Given the description of an element on the screen output the (x, y) to click on. 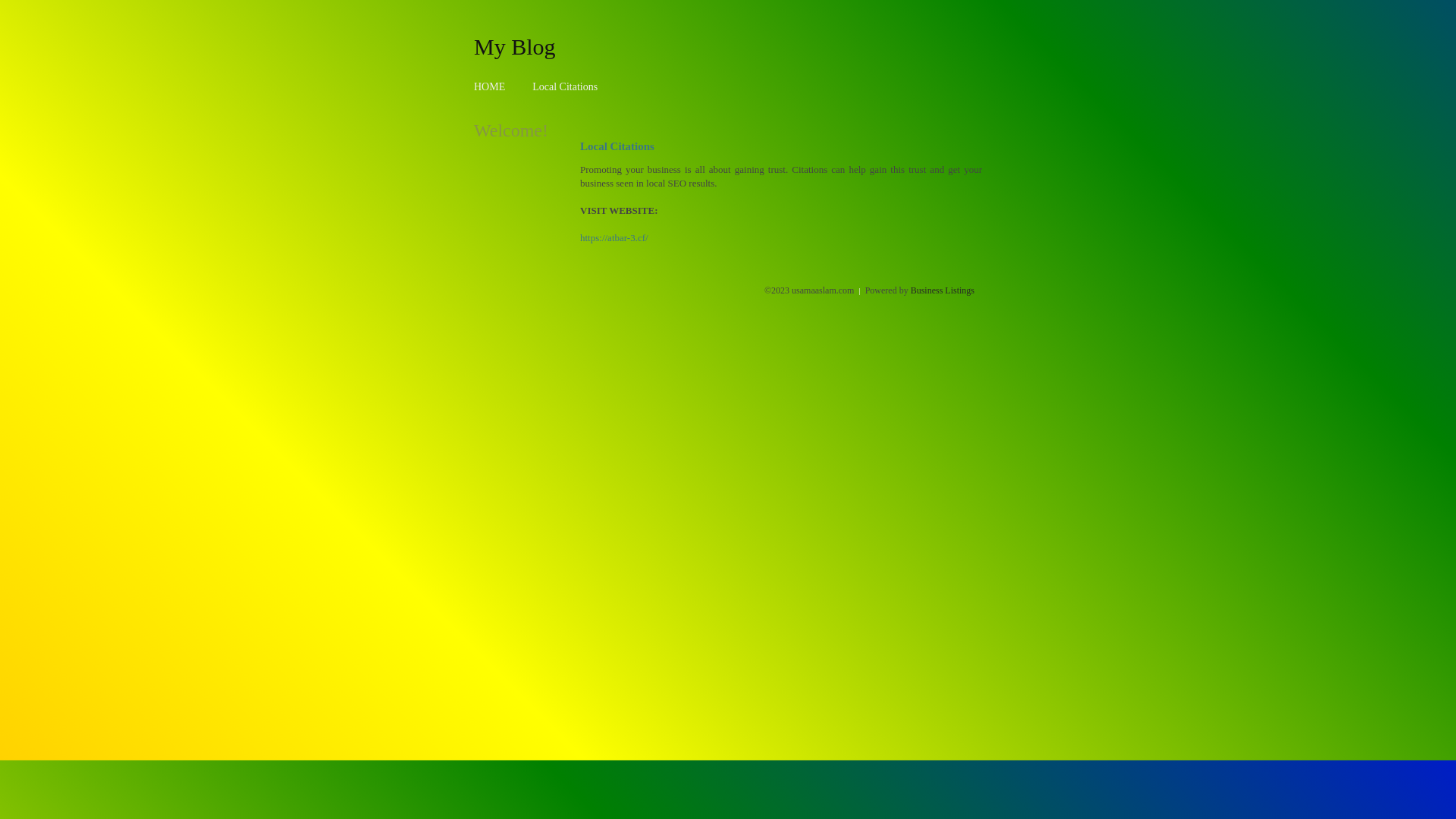
Business Listings Element type: text (942, 290)
https://atbar-3.cf/ Element type: text (614, 237)
Local Citations Element type: text (564, 86)
HOME Element type: text (489, 86)
My Blog Element type: text (514, 46)
